Given the description of an element on the screen output the (x, y) to click on. 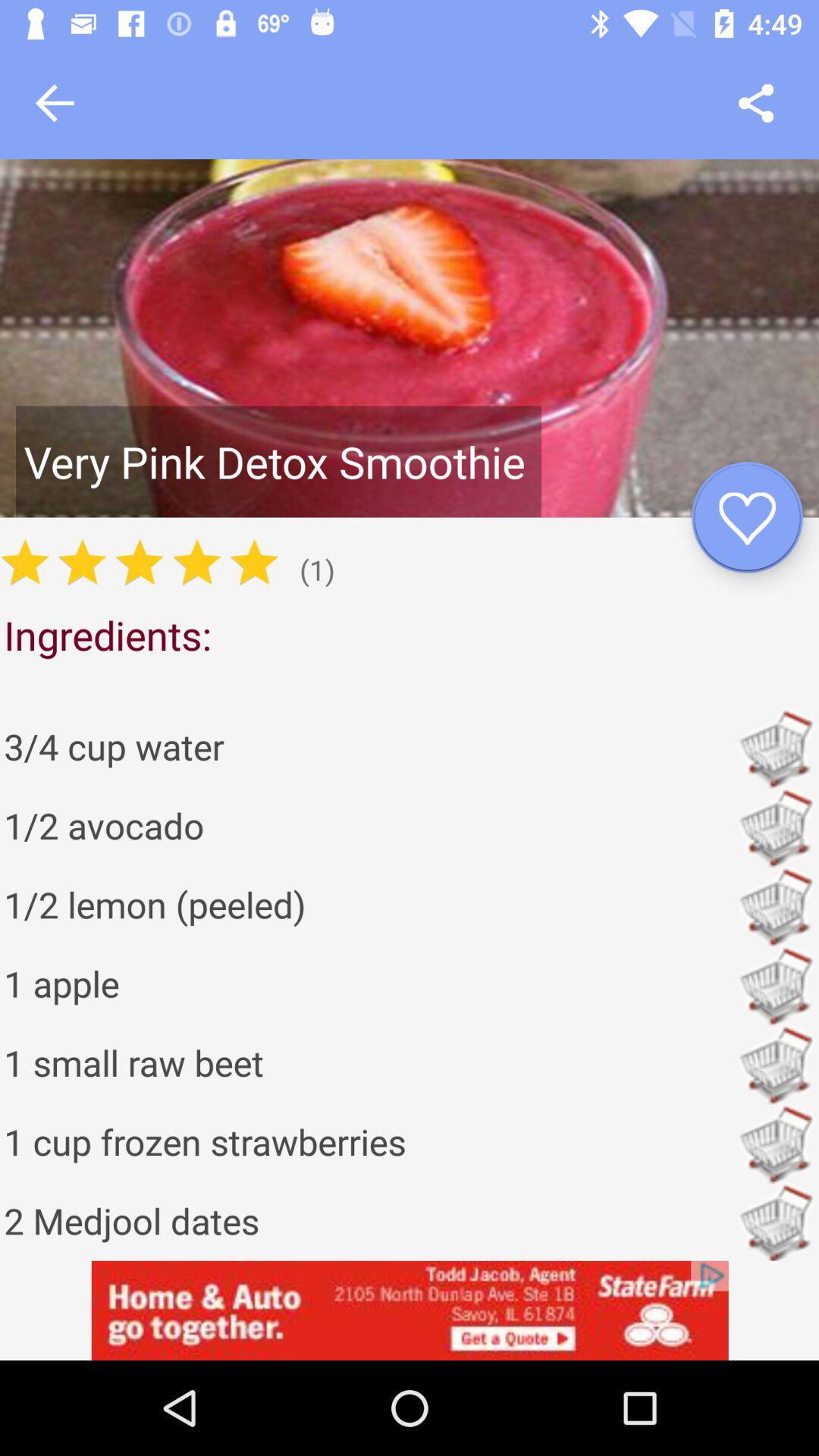
advertisement sponsored link (409, 1310)
